Given the description of an element on the screen output the (x, y) to click on. 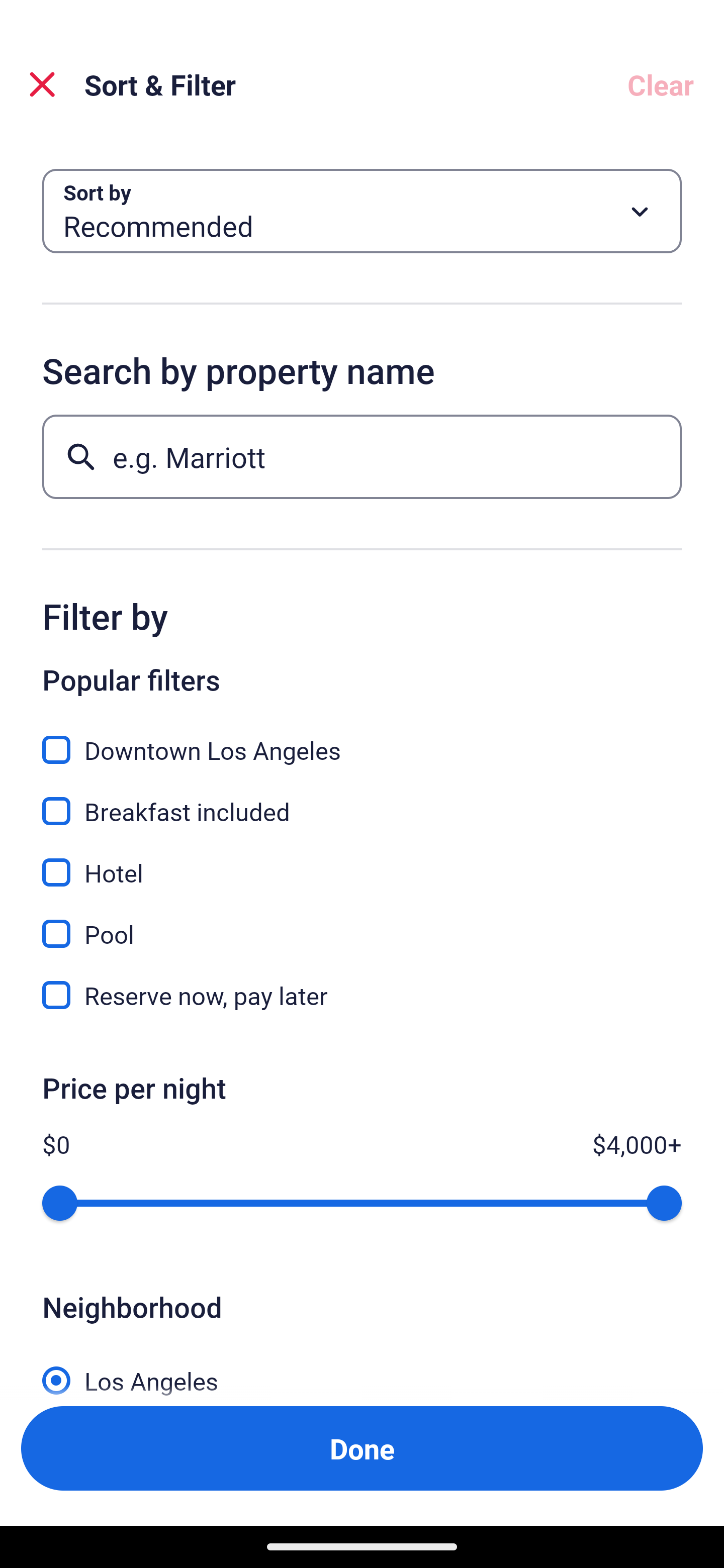
Close Sort and Filter (42, 84)
Clear (660, 84)
Sort by Button Recommended (361, 211)
e.g. Marriott Button (361, 455)
Downtown Los Angeles, Downtown Los Angeles (361, 738)
Breakfast included, Breakfast included (361, 800)
Hotel, Hotel (361, 861)
Pool, Pool (361, 922)
Reserve now, pay later, Reserve now, pay later (361, 995)
Apply and close Sort and Filter Done (361, 1448)
